Given the description of an element on the screen output the (x, y) to click on. 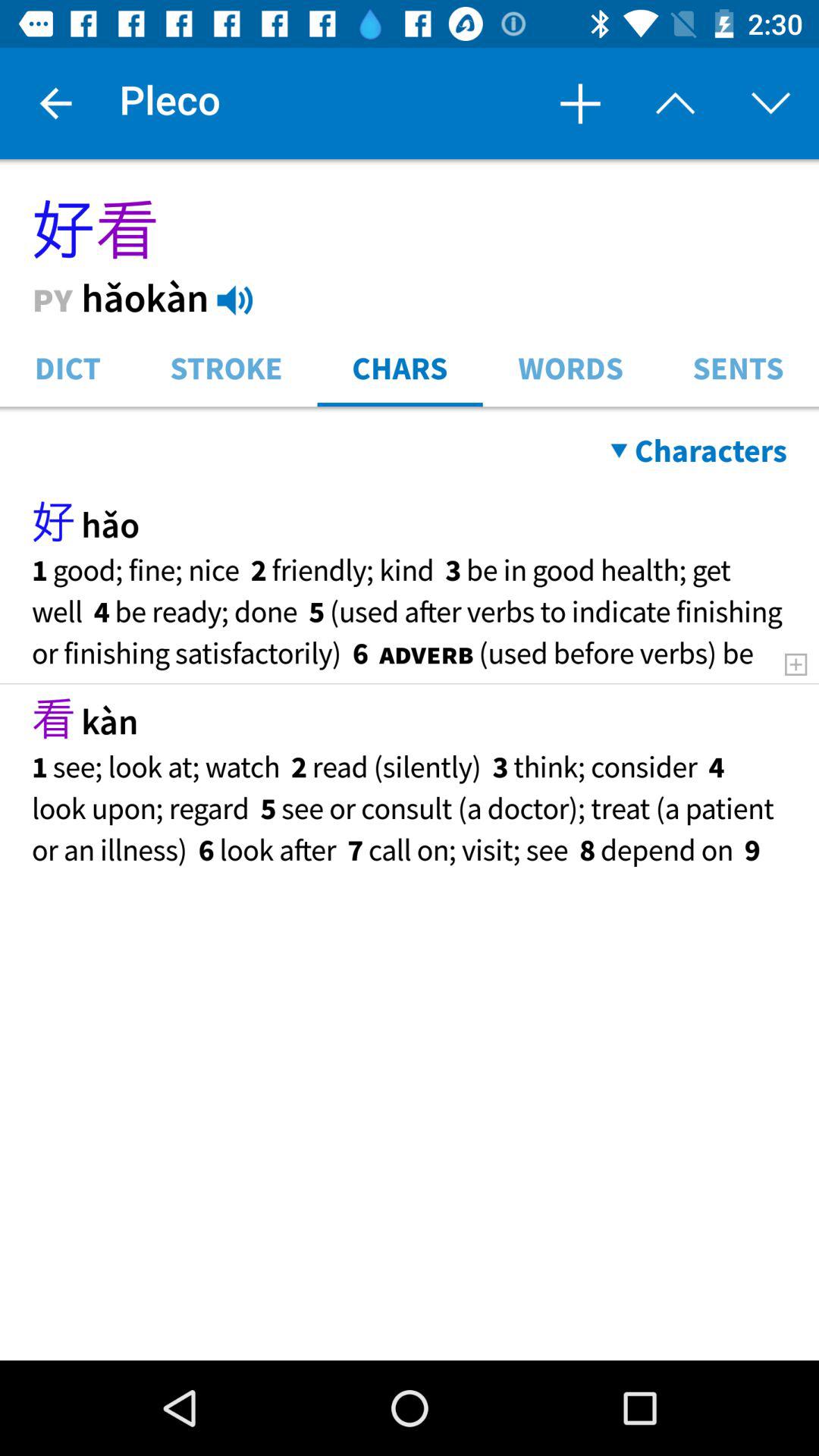
turn off the icon next to the stroke (399, 366)
